Given the description of an element on the screen output the (x, y) to click on. 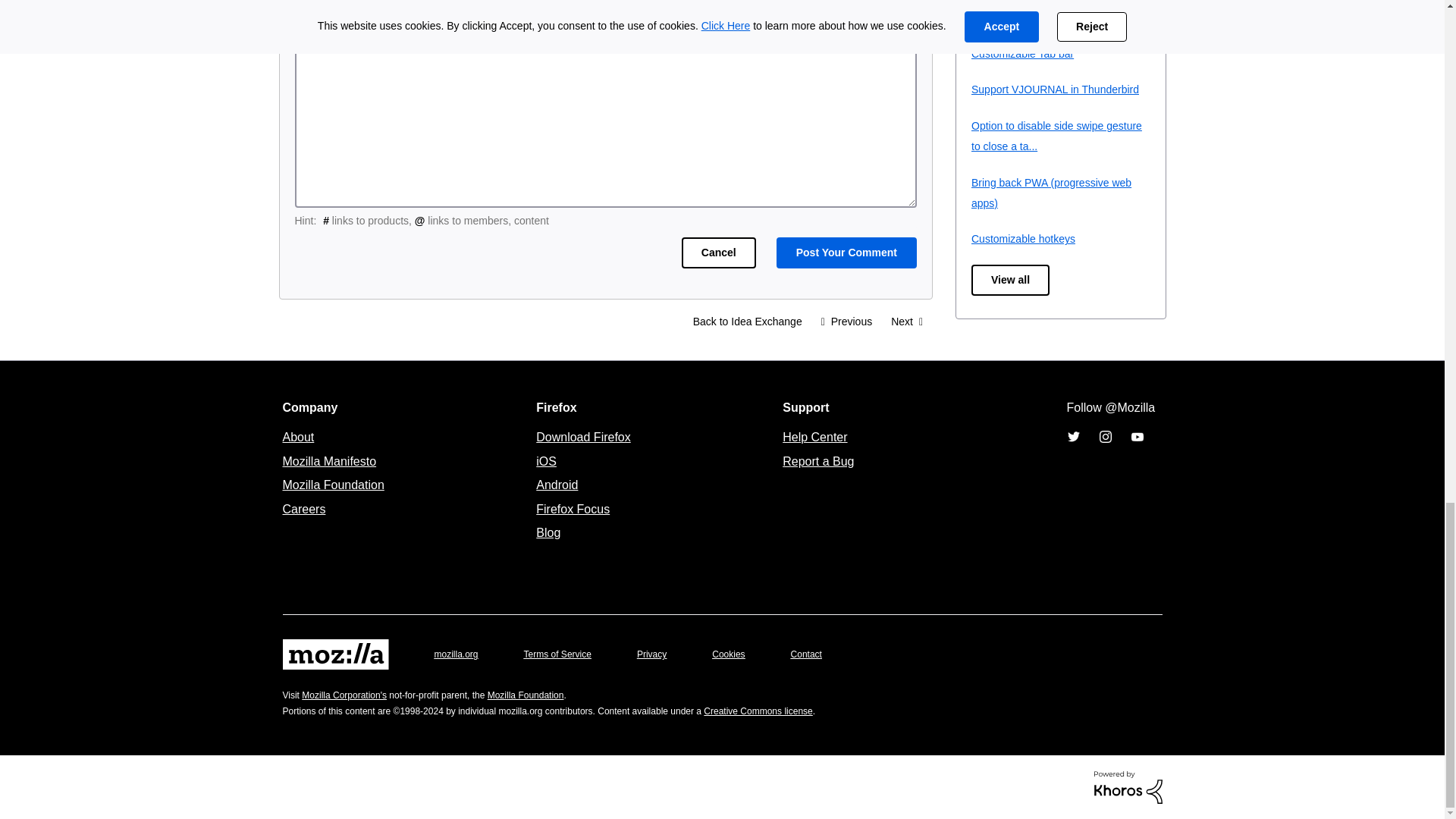
Post Your Comment (846, 252)
Cancel (718, 252)
